Given the description of an element on the screen output the (x, y) to click on. 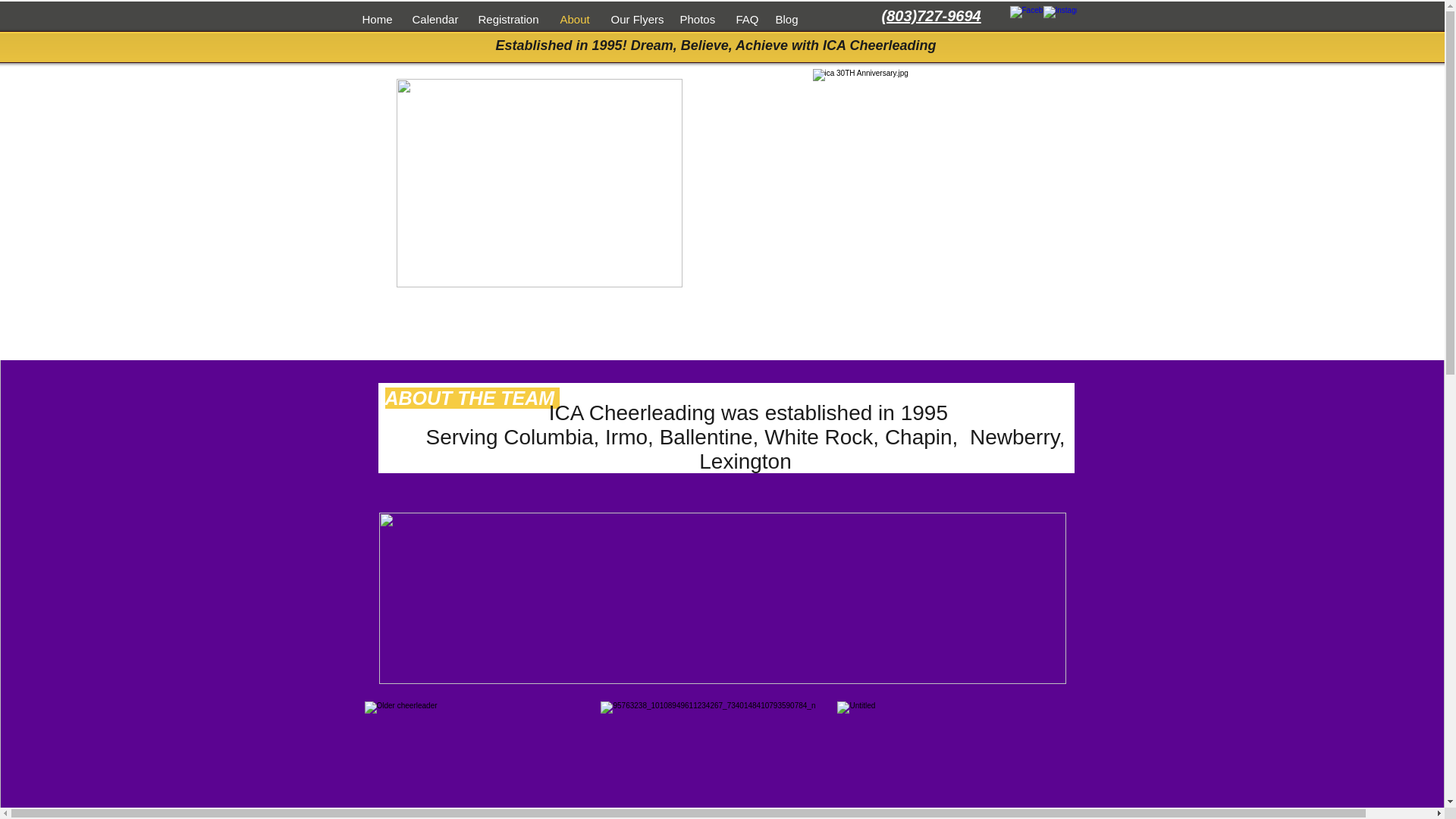
Home (375, 18)
Our Flyers (633, 18)
FAQ (744, 18)
Calendar (432, 18)
Longest running allstar-01.png (721, 597)
About (573, 18)
Blog (786, 18)
Photos (696, 18)
Registration (507, 18)
